Given the description of an element on the screen output the (x, y) to click on. 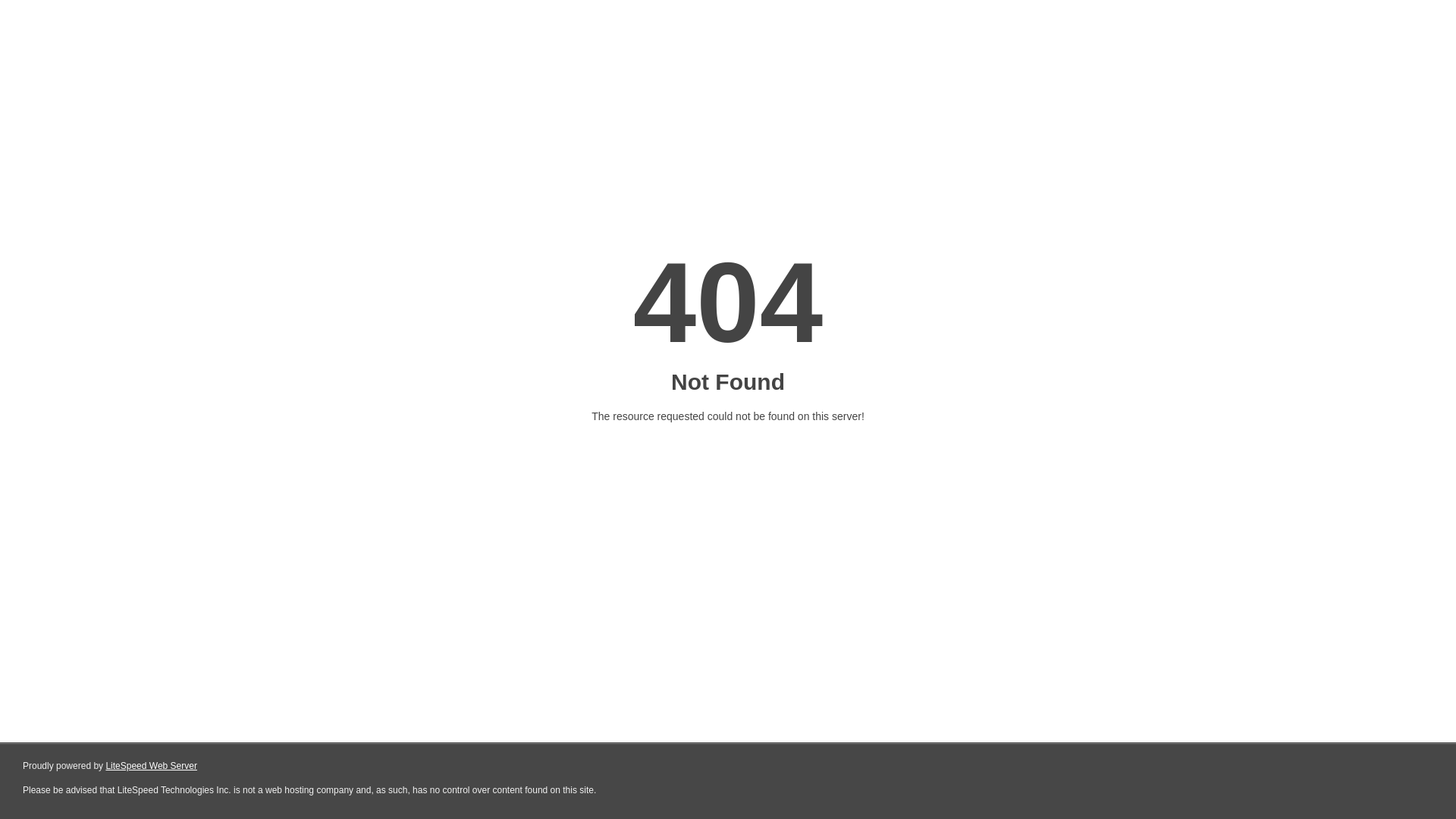
LiteSpeed Web Server Element type: text (151, 765)
